Given the description of an element on the screen output the (x, y) to click on. 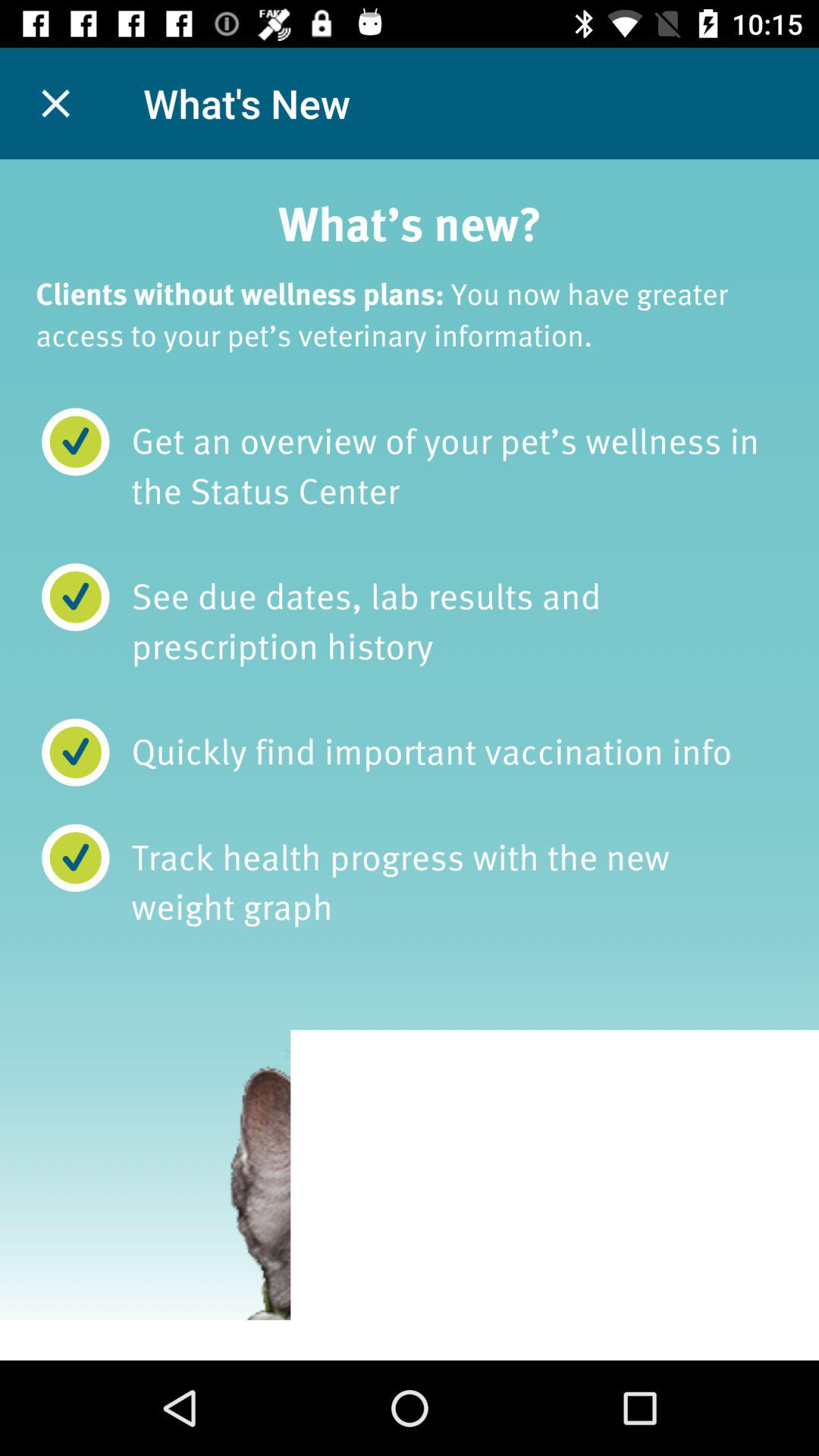
advertisement page (409, 759)
